Given the description of an element on the screen output the (x, y) to click on. 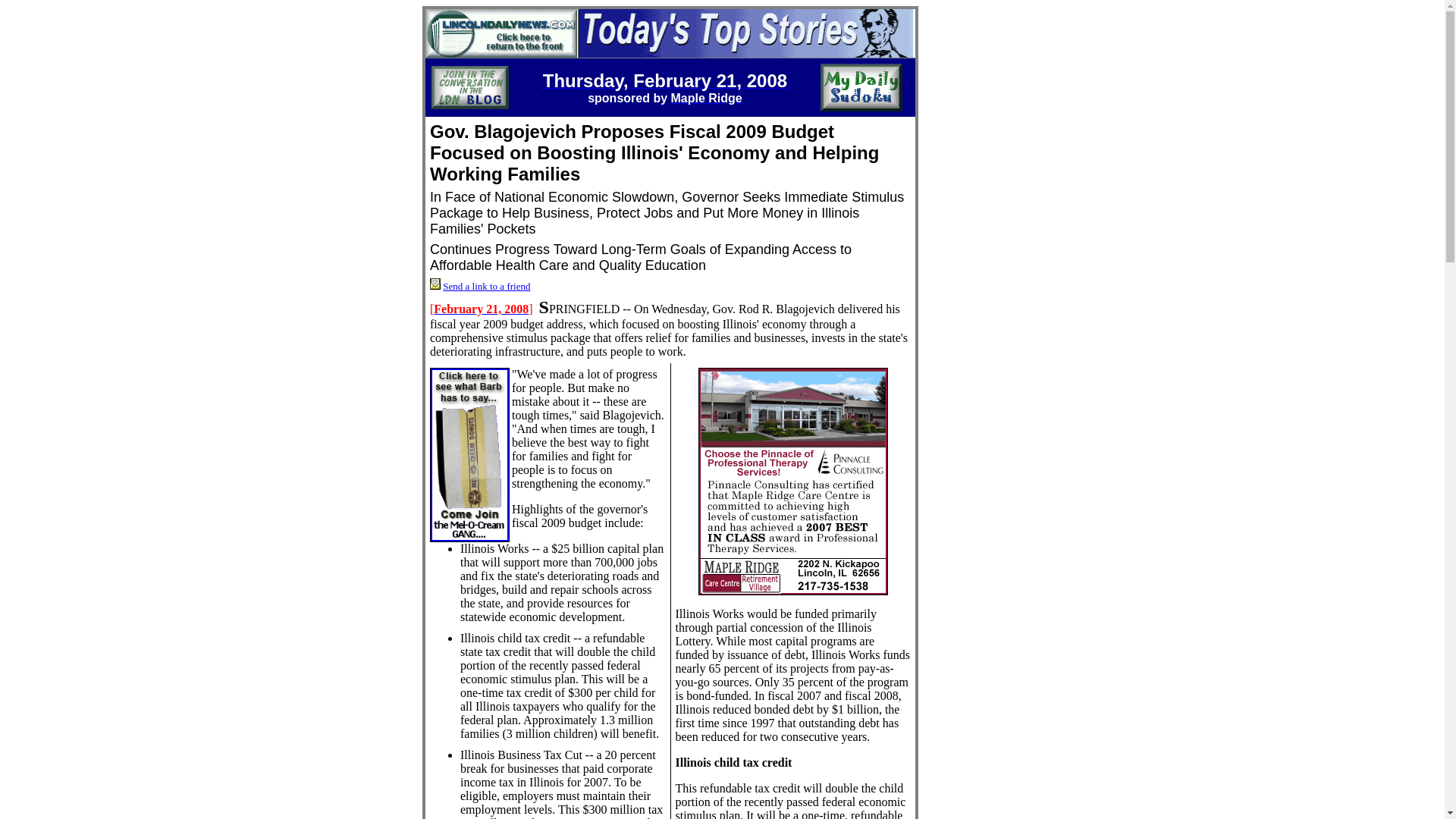
Maple Ridge (706, 97)
February 21, 2008 (480, 308)
Thursday, February 21, 2008 (665, 82)
Send a link to a friend (485, 285)
